Given the description of an element on the screen output the (x, y) to click on. 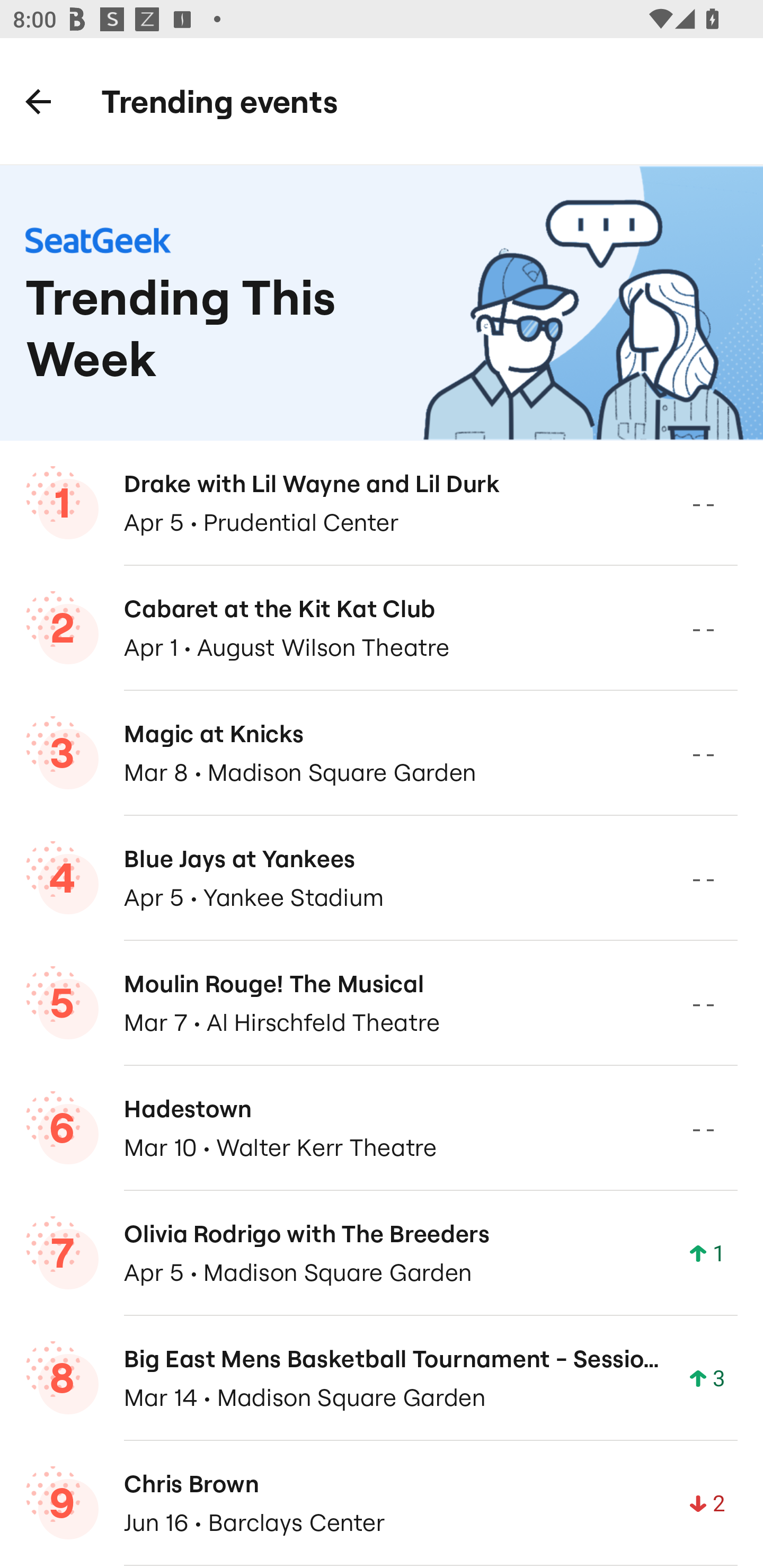
Back (38, 100)
